Given the description of an element on the screen output the (x, y) to click on. 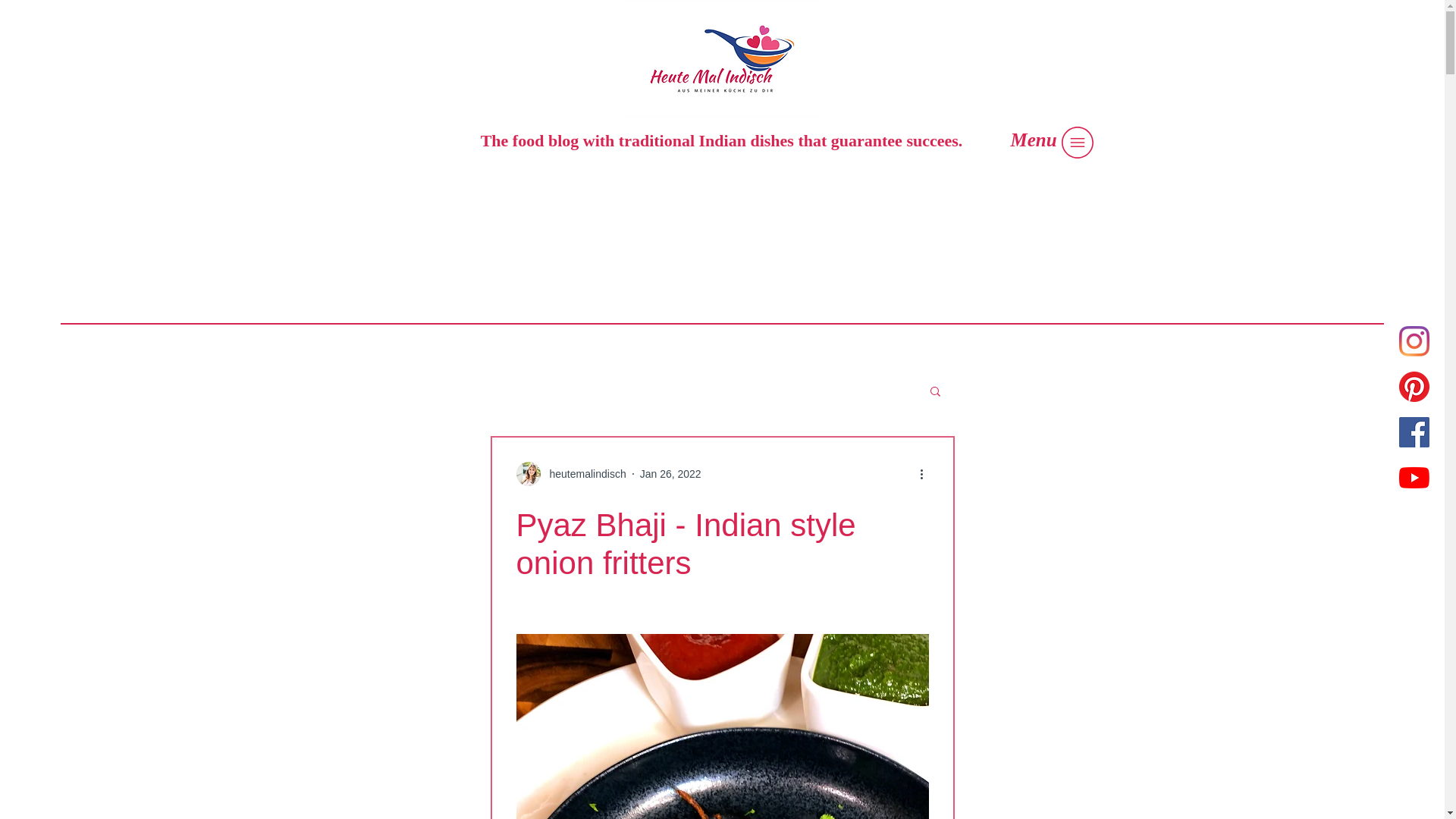
Jan 26, 2022 (670, 472)
heutemalindisch (583, 473)
